Given the description of an element on the screen output the (x, y) to click on. 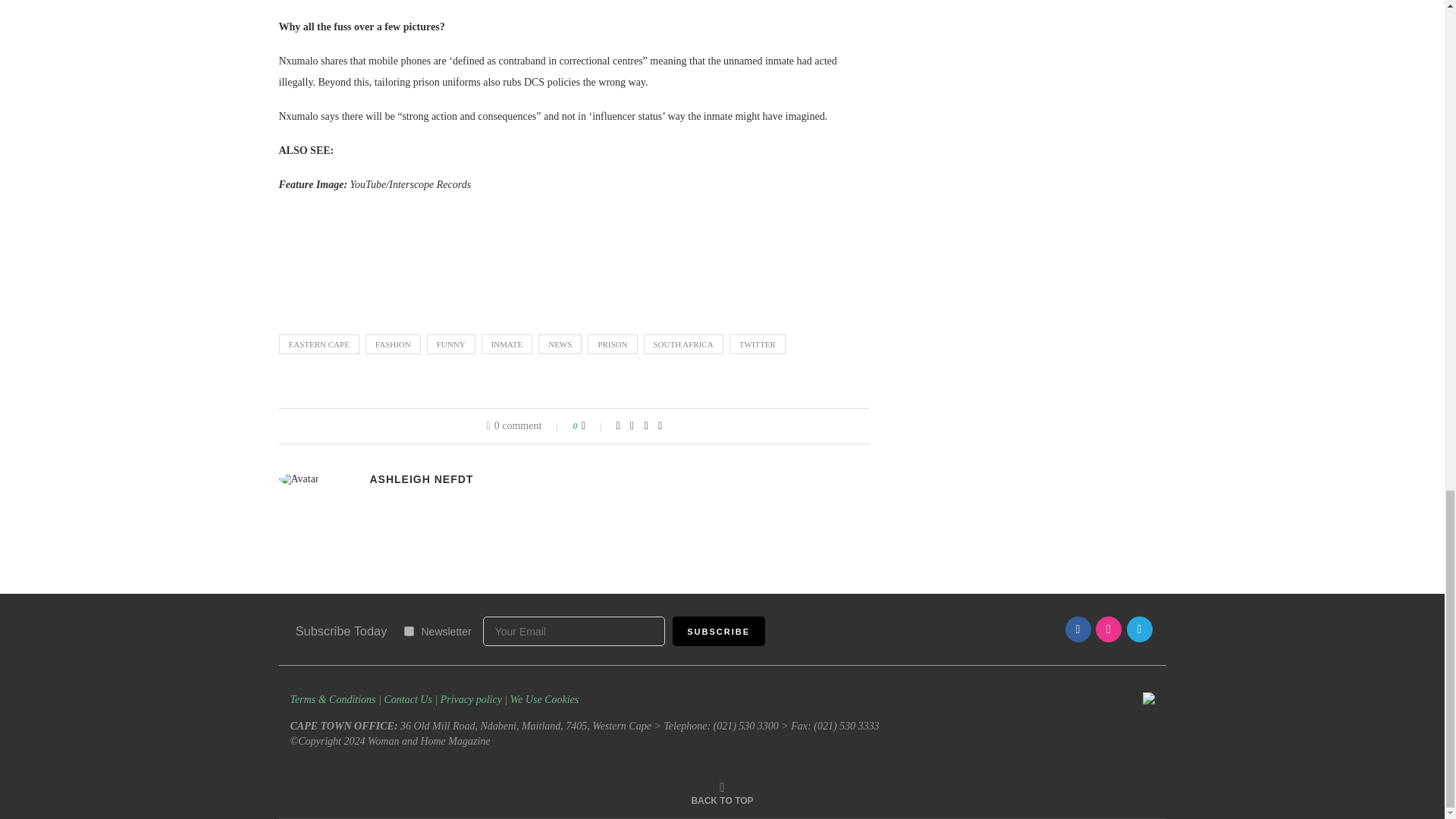
Posts by Ashleigh Nefdt (421, 479)
19087 (408, 631)
Subscribe (718, 631)
Like (592, 426)
